Given the description of an element on the screen output the (x, y) to click on. 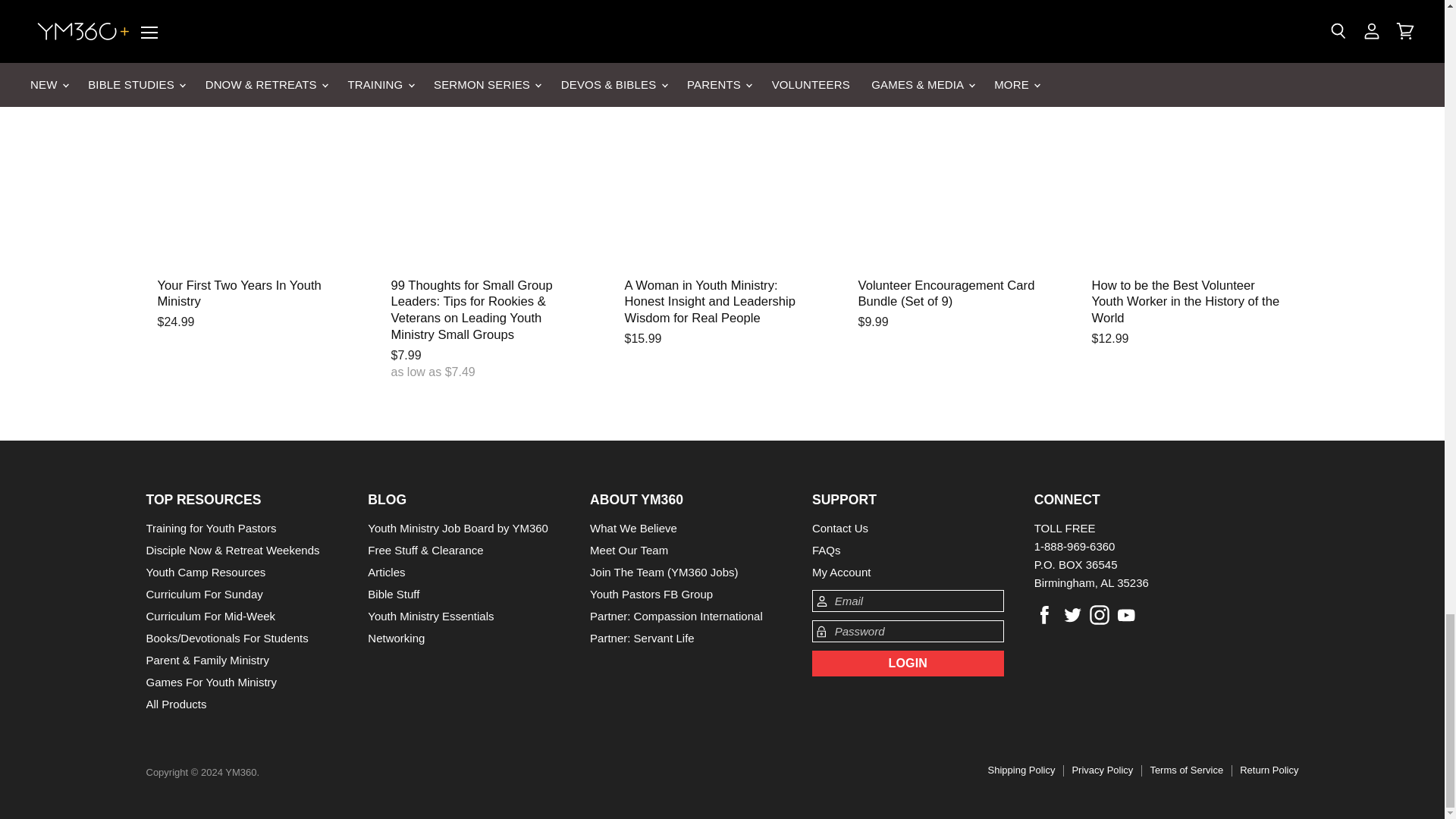
Youtube (1126, 614)
Facebook (1044, 614)
Twitter (1072, 614)
Instagram (1099, 614)
Login (908, 662)
